Given the description of an element on the screen output the (x, y) to click on. 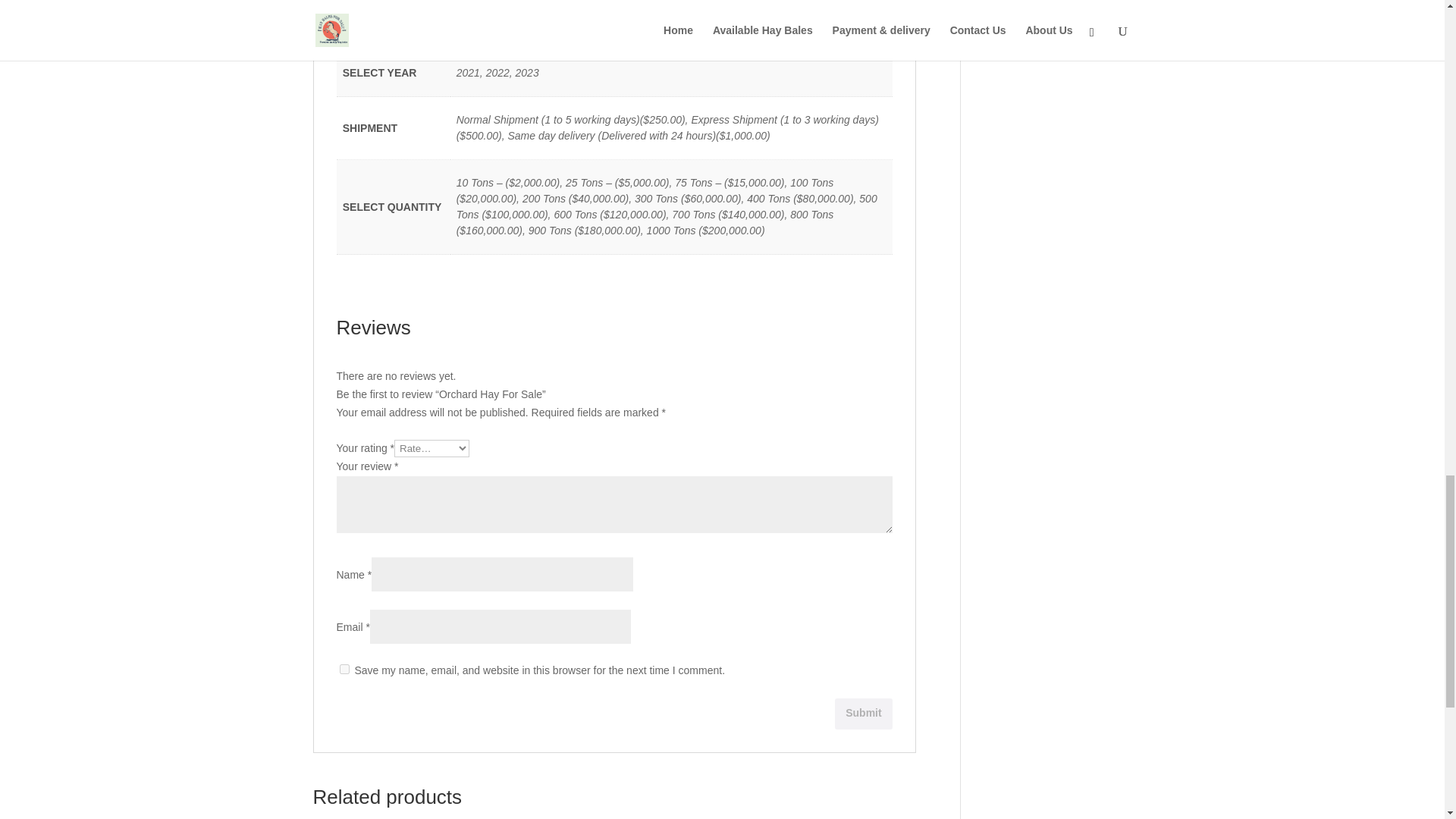
Submit (862, 713)
Submit (862, 713)
yes (344, 669)
